Given the description of an element on the screen output the (x, y) to click on. 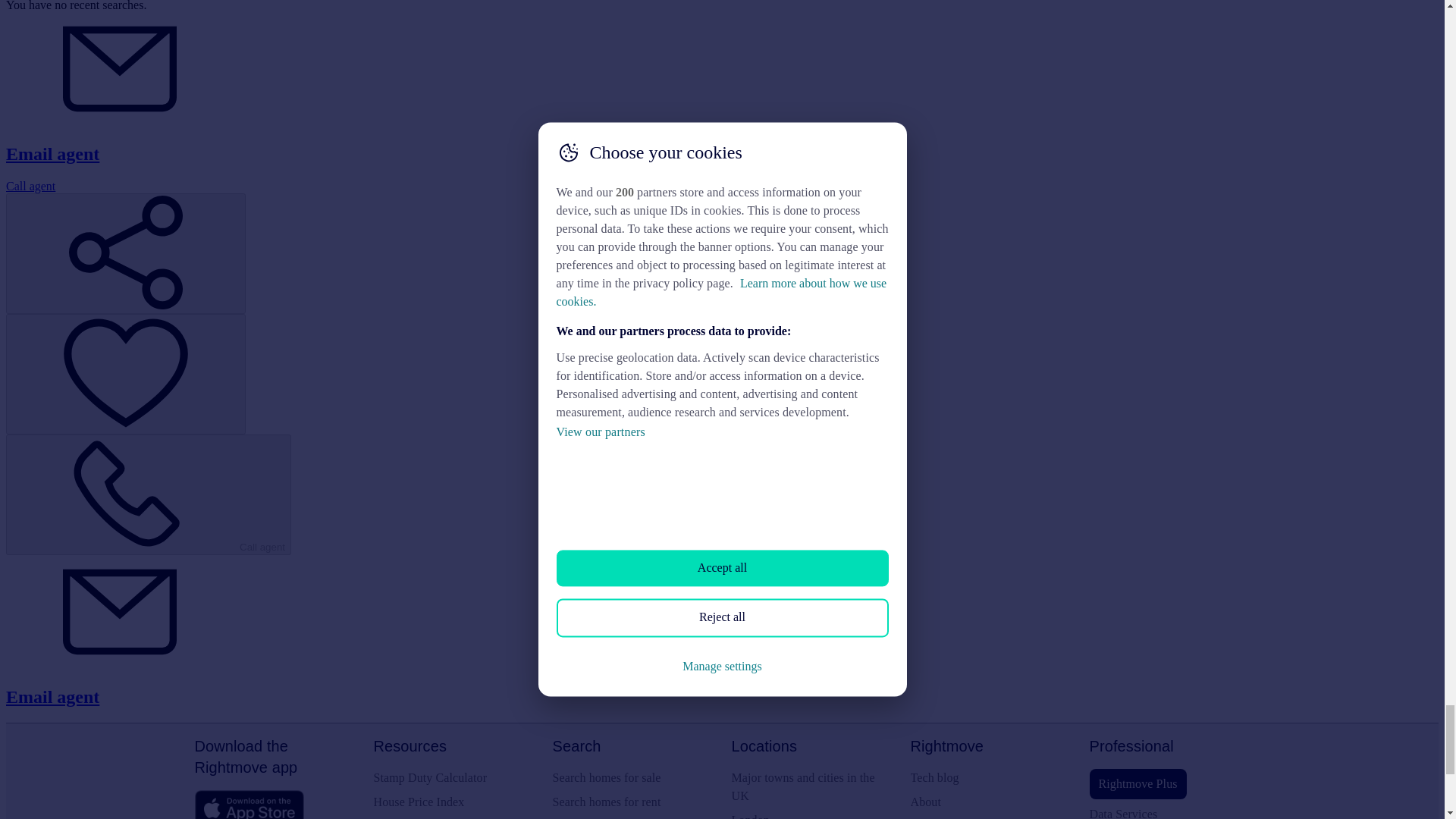
House price index (453, 802)
Save this property (125, 373)
Share this property (125, 253)
Stamp duty calculator (453, 778)
